Given the description of an element on the screen output the (x, y) to click on. 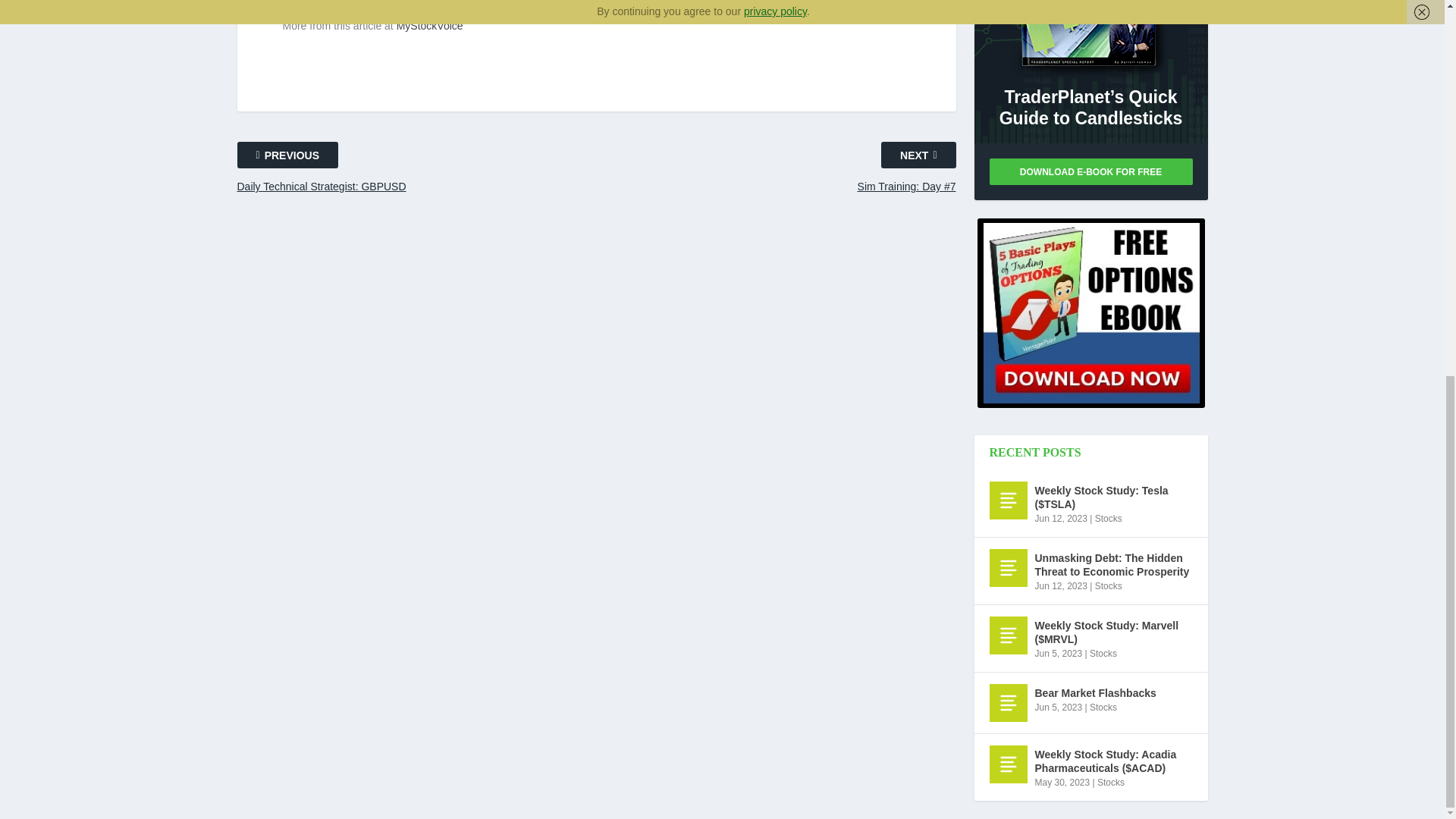
Unmasking Debt: The Hidden Threat to Economic Prosperity (1007, 567)
MyStockVoice on ABB (429, 25)
MyStockVoice (429, 25)
Unmasking Debt: The Hidden Threat to Economic Prosperity (1112, 564)
Stocks (1108, 585)
Bear Market Flashbacks (1007, 702)
DOWNLOAD E-BOOK FOR FREE (1090, 171)
Stocks (1108, 518)
